Given the description of an element on the screen output the (x, y) to click on. 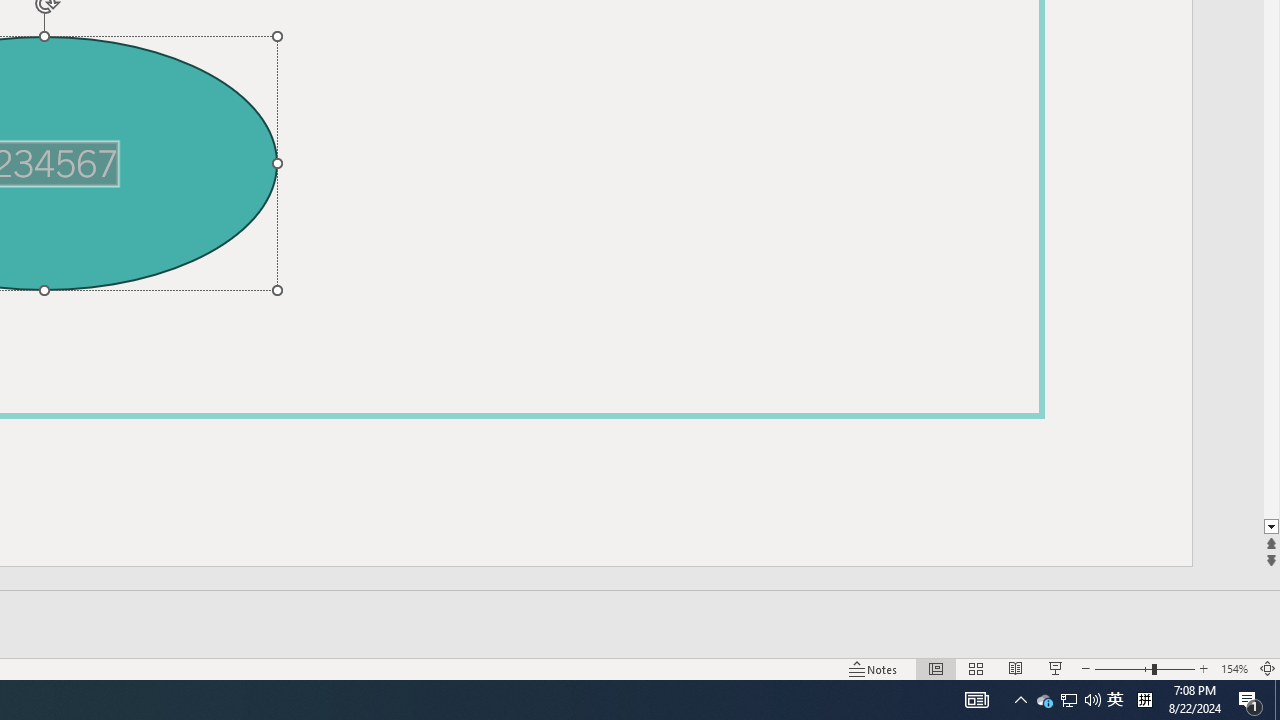
Zoom 154% (1234, 668)
